Given the description of an element on the screen output the (x, y) to click on. 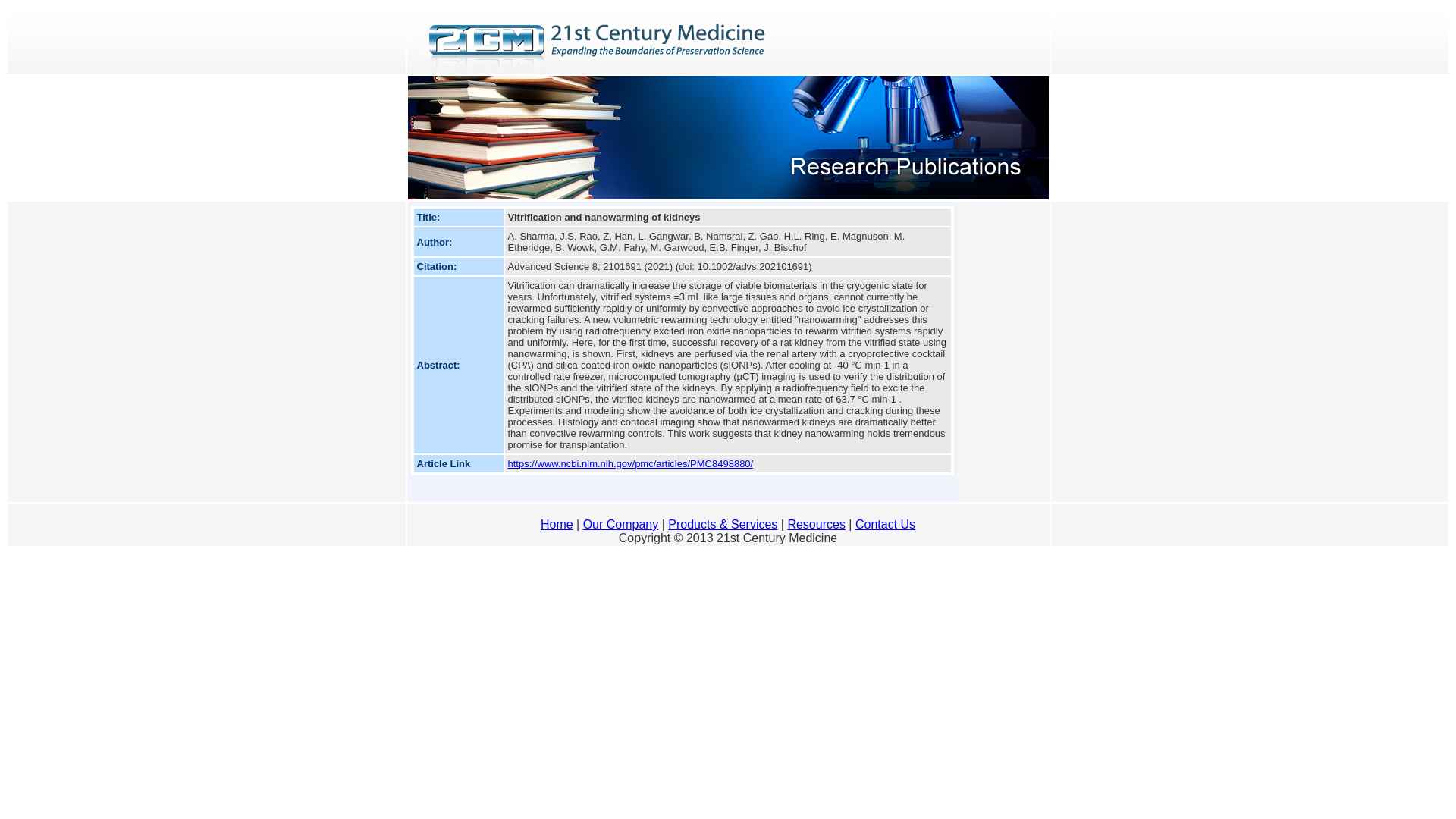
Home Element type: text (556, 523)
Resources Element type: text (815, 523)
Contact Us Element type: text (885, 523)
Our Company Element type: text (620, 523)
https://www.ncbi.nlm.nih.gov/pmc/articles/PMC8498880/ Element type: text (630, 463)
Products & Services Element type: text (722, 523)
